Given the description of an element on the screen output the (x, y) to click on. 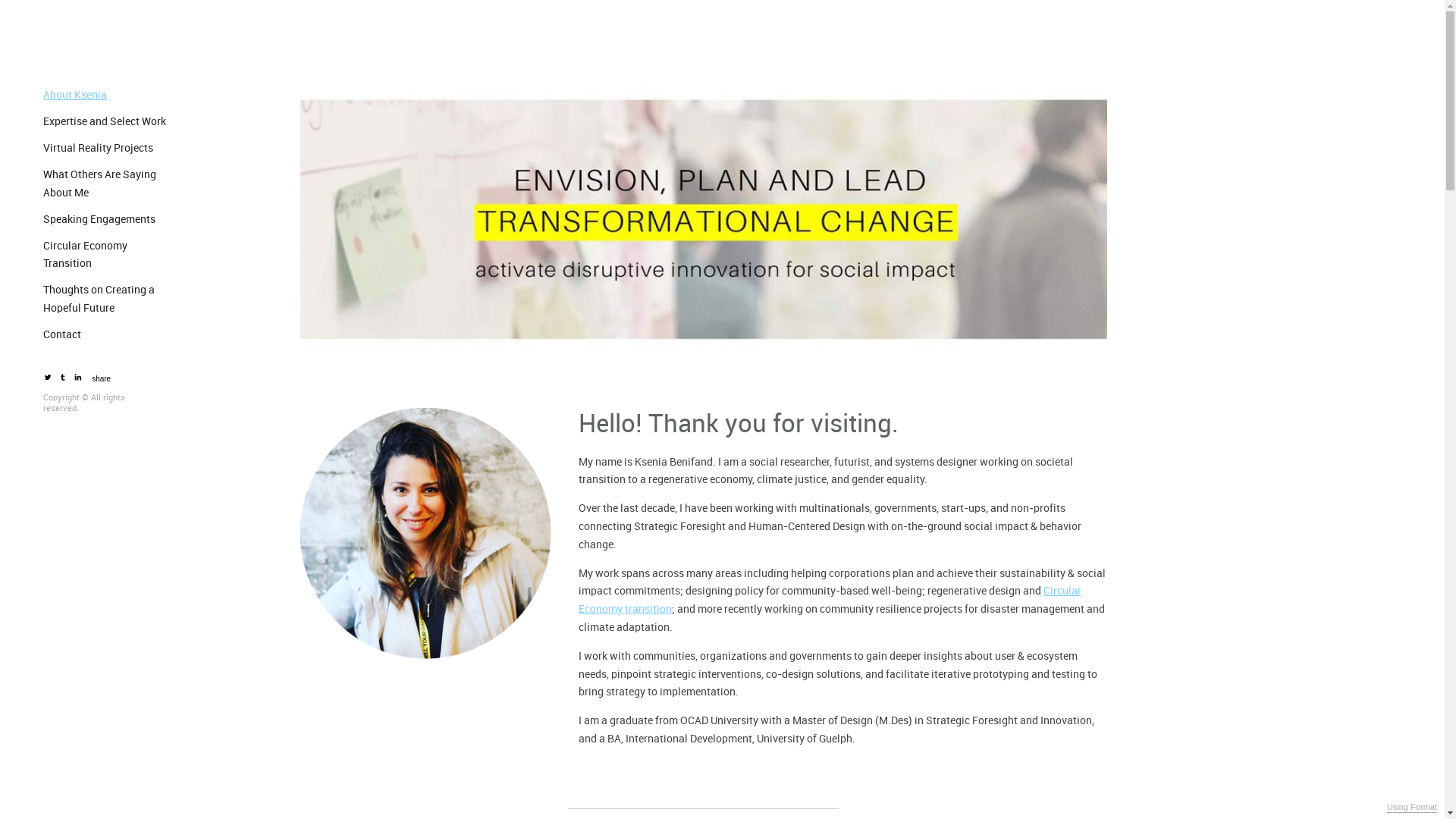
What Others Are Saying About Me Element type: text (110, 183)
About Ksenia Element type: text (77, 94)
Speaking Engagements Element type: text (101, 219)
Using Format Element type: text (1411, 807)
Circular Economy transition Element type: text (829, 600)
Thoughts on Creating a Hopeful Future Element type: text (110, 299)
Expertise and Select Work Element type: text (106, 121)
share Element type: text (100, 378)
Contact Element type: text (64, 334)
Circular Economy Transition Element type: text (110, 254)
Virtual Reality Projects Element type: text (100, 147)
